Given the description of an element on the screen output the (x, y) to click on. 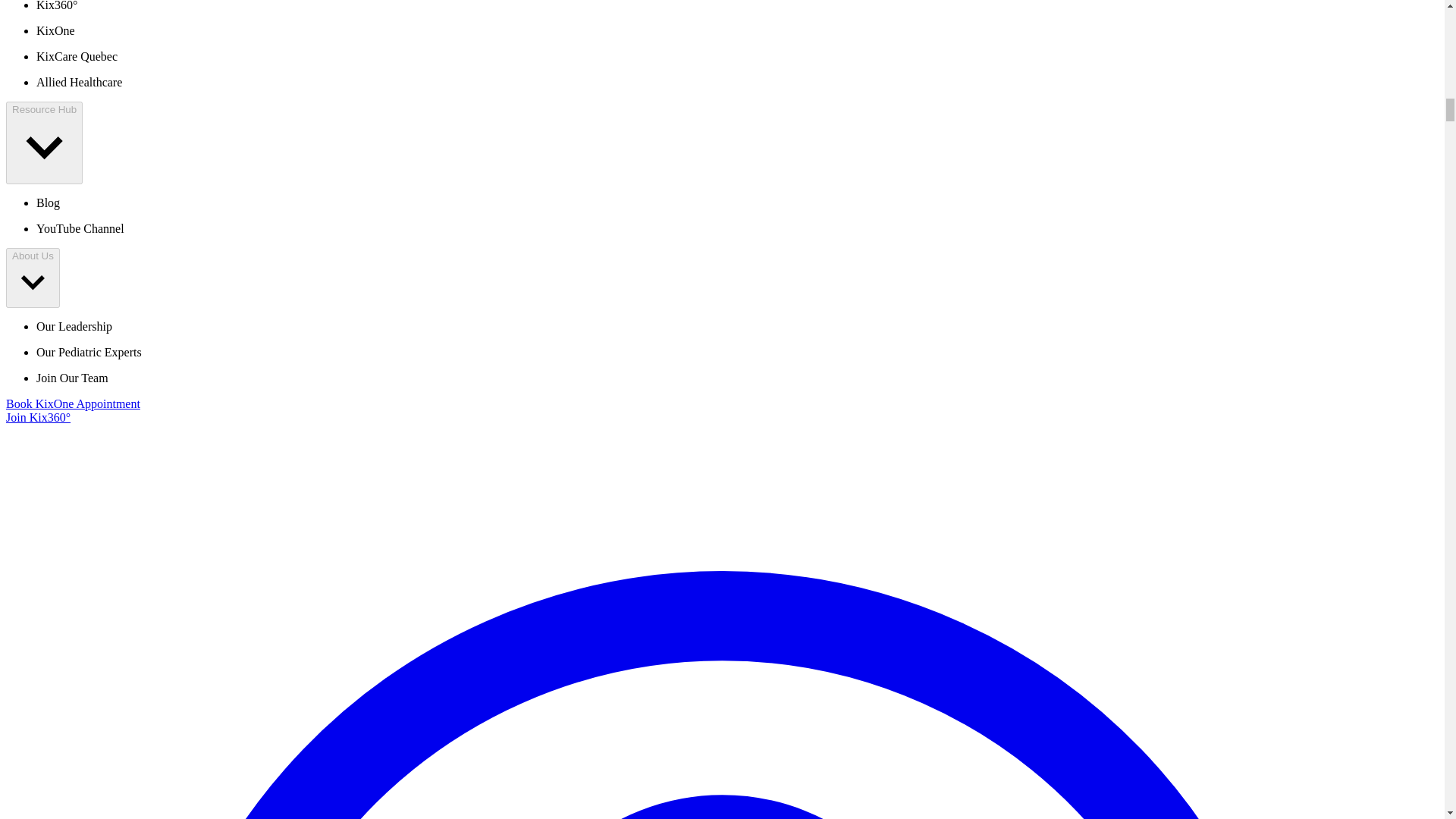
Blog (47, 202)
Book KixOne Appointment (72, 403)
Our Pediatric Experts (88, 351)
KixCare Quebec (76, 56)
Allied Healthcare (79, 82)
Resource Hub (43, 142)
About Us (32, 277)
Our Leadership (74, 326)
YouTube Channel (79, 228)
KixOne (55, 30)
Join Our Team (71, 377)
